Given the description of an element on the screen output the (x, y) to click on. 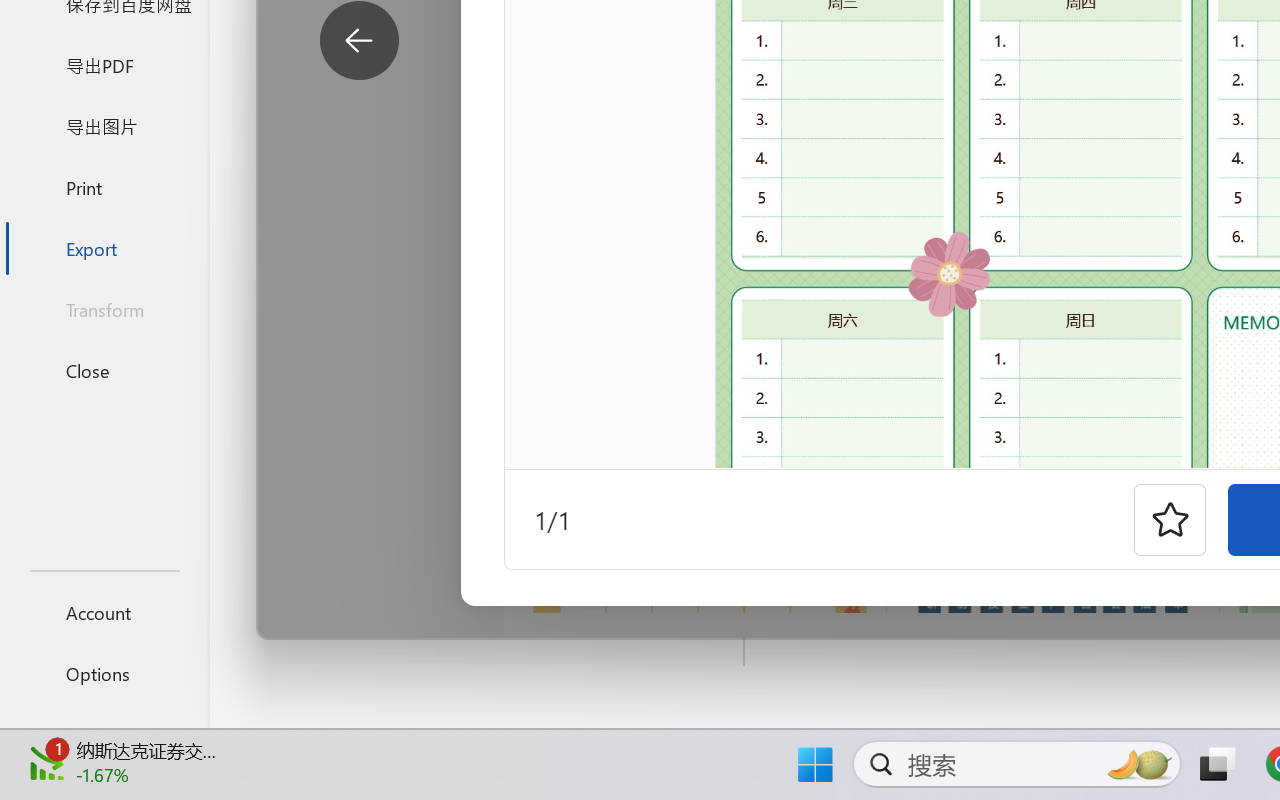
Export (104, 248)
Transform (104, 309)
Account (104, 612)
Options (104, 673)
Print (104, 186)
